Given the description of an element on the screen output the (x, y) to click on. 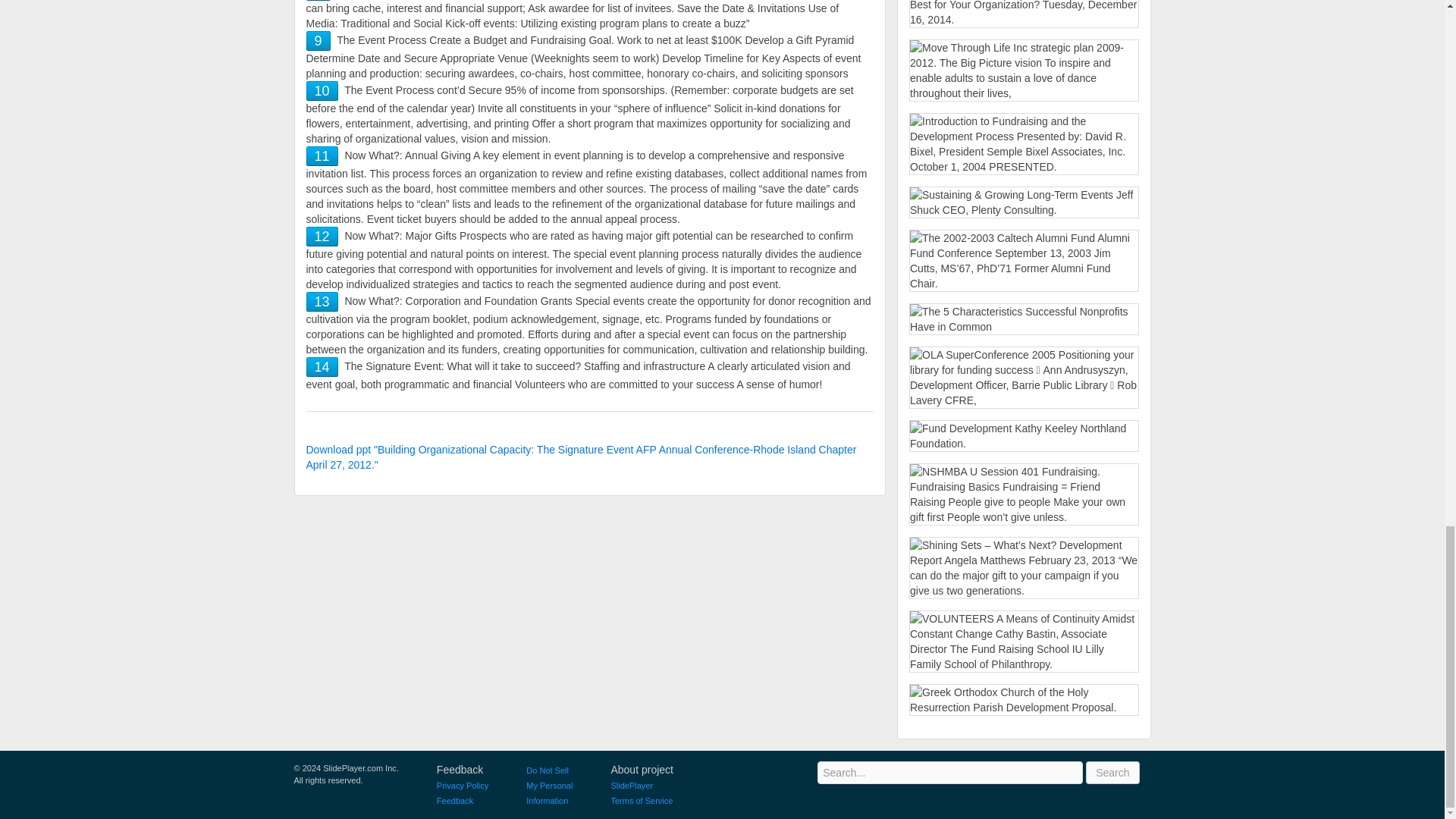
The Signature Event: What will it take to succeed. (321, 366)
